Given the description of an element on the screen output the (x, y) to click on. 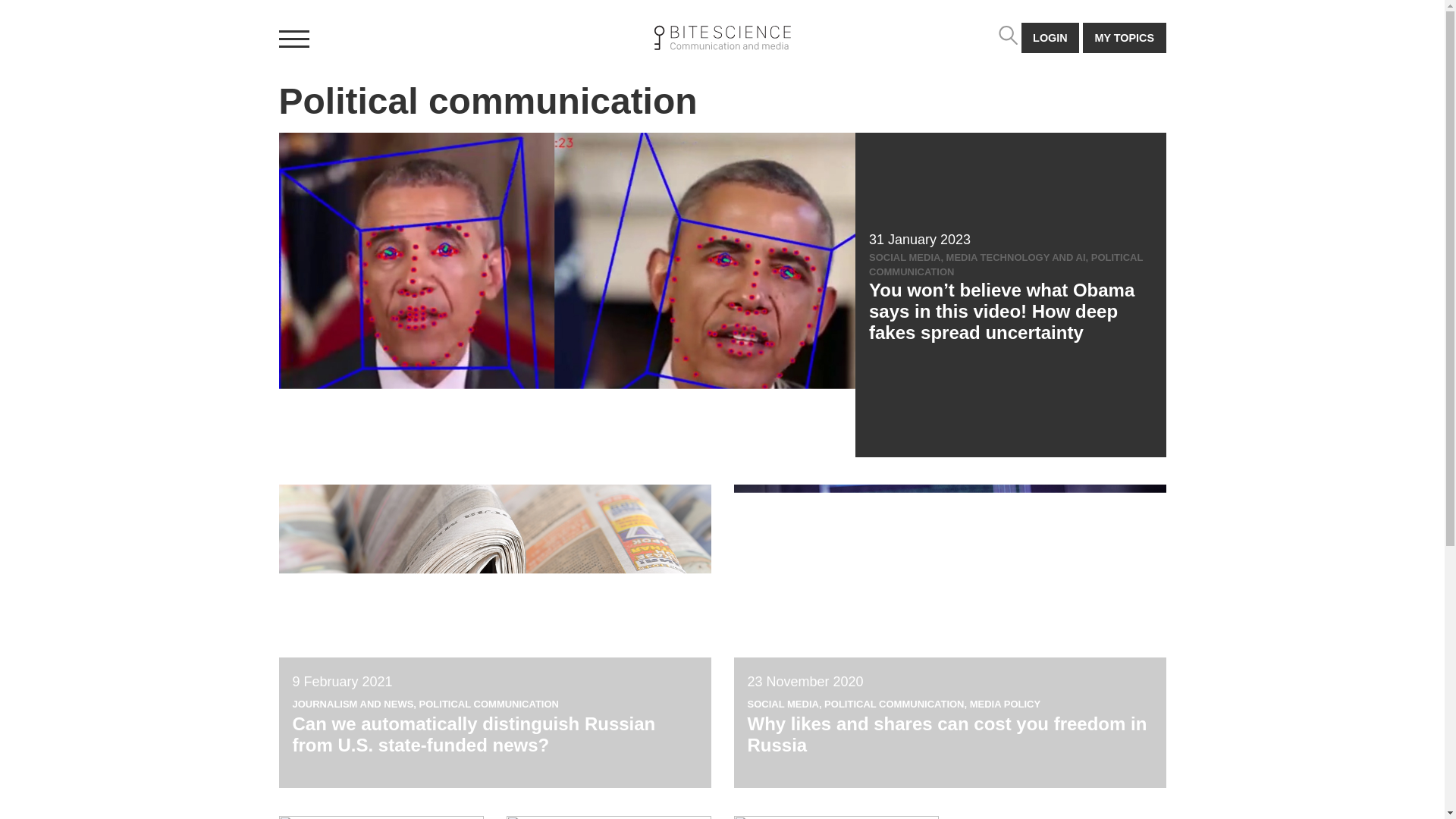
MY TOPICS (1124, 38)
LOGIN (1050, 38)
